Given the description of an element on the screen output the (x, y) to click on. 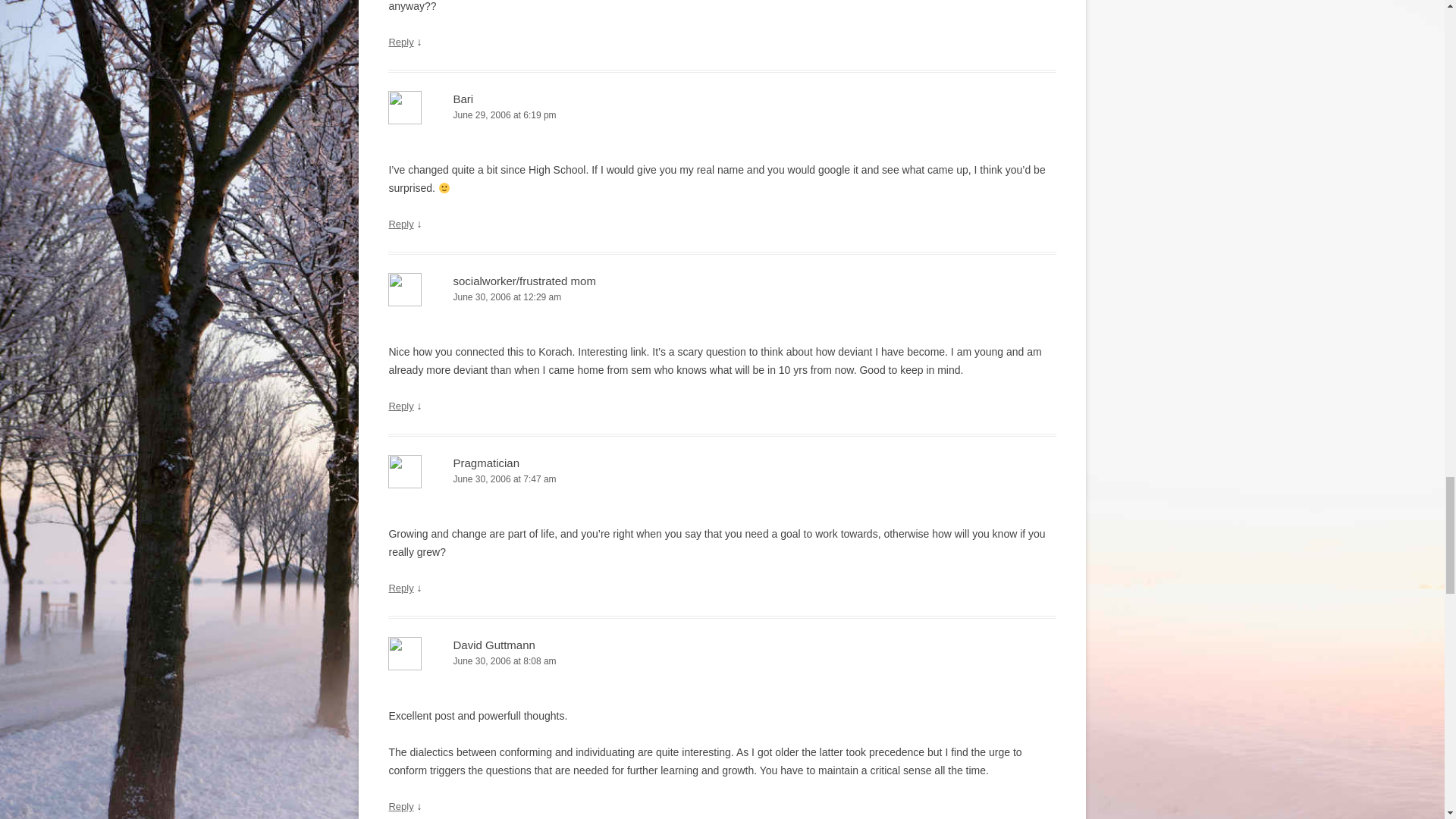
Bari (462, 98)
Reply (400, 224)
Reply (400, 41)
June 29, 2006 at 6:19 pm (721, 115)
